Given the description of an element on the screen output the (x, y) to click on. 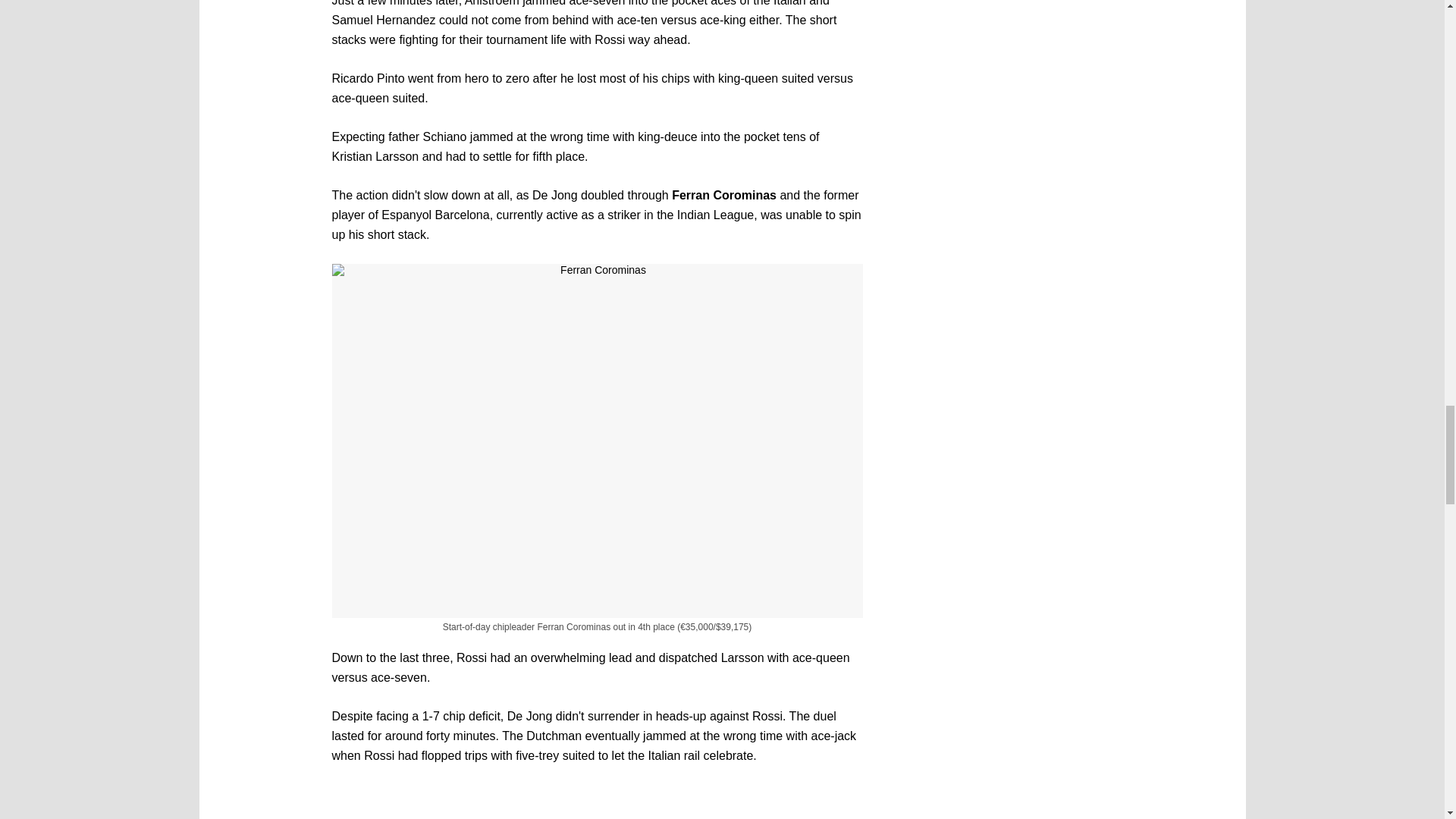
YouTube video player (597, 801)
